Given the description of an element on the screen output the (x, y) to click on. 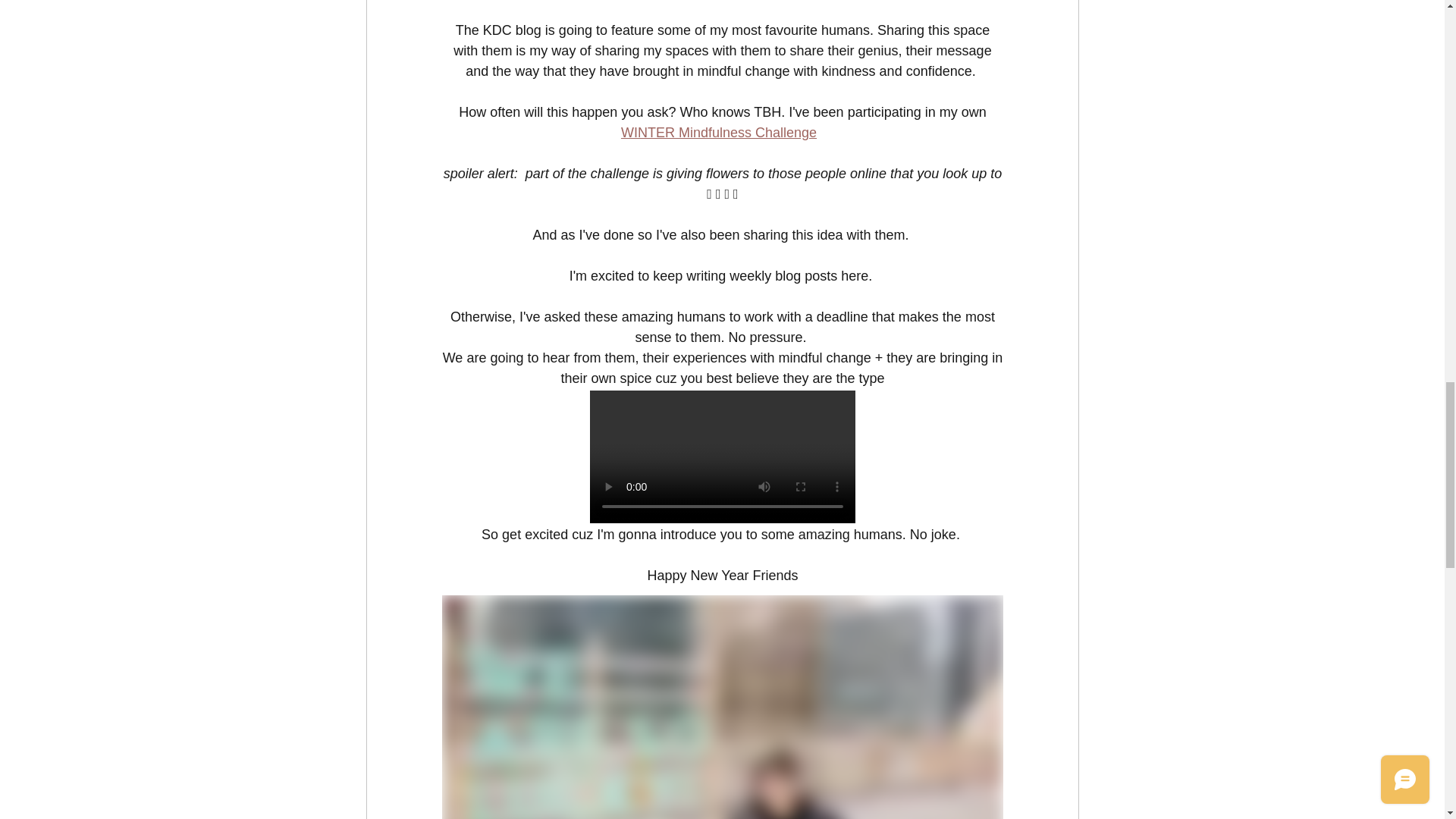
WINTER Mindfulness Challenge (717, 132)
